Given the description of an element on the screen output the (x, y) to click on. 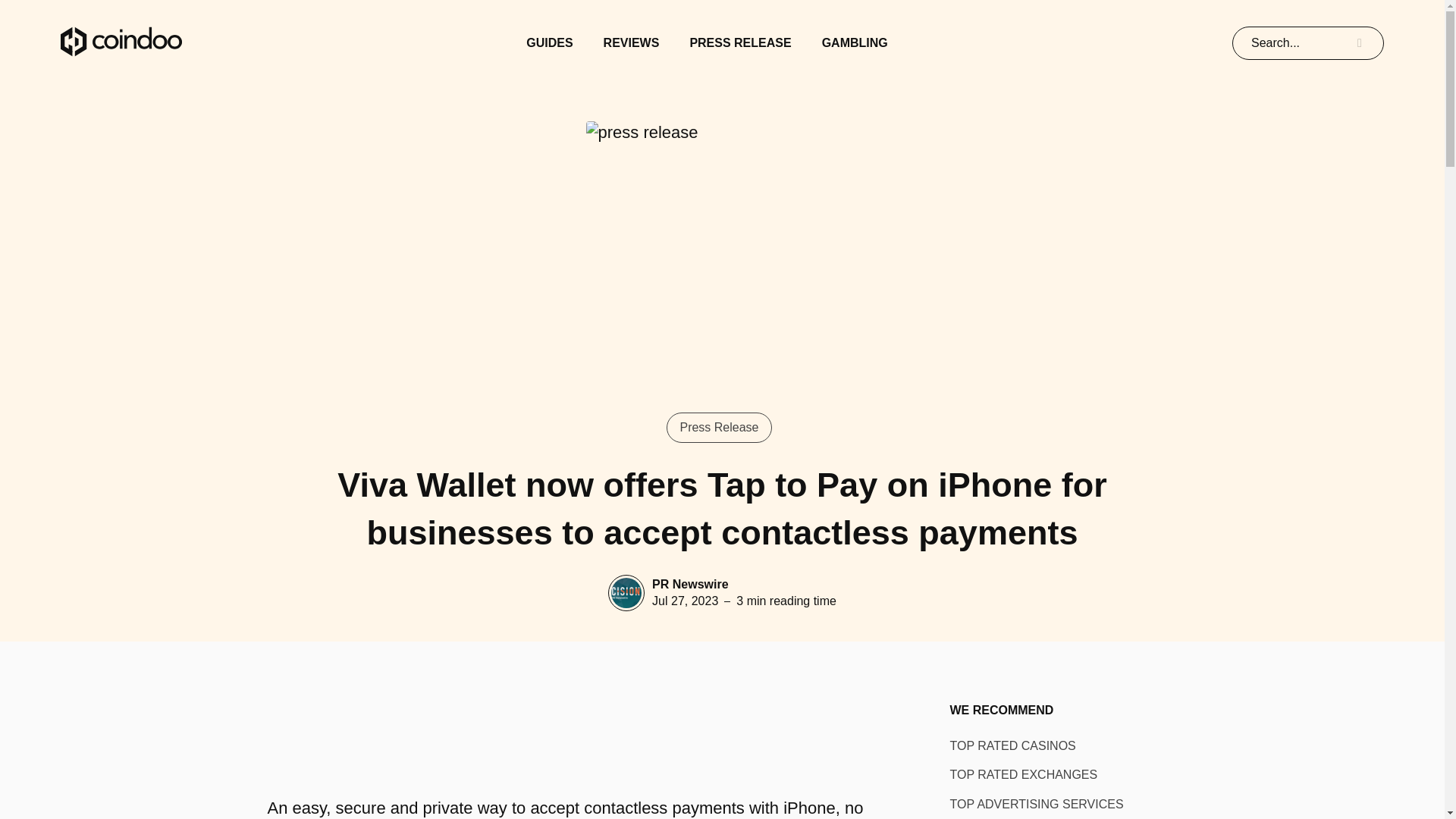
GAMBLING (855, 42)
PR Newswire (690, 584)
Press Release (718, 427)
Coindoo (121, 42)
GUIDES (548, 42)
REVIEWS (631, 42)
PRESS RELEASE (739, 42)
